Given the description of an element on the screen output the (x, y) to click on. 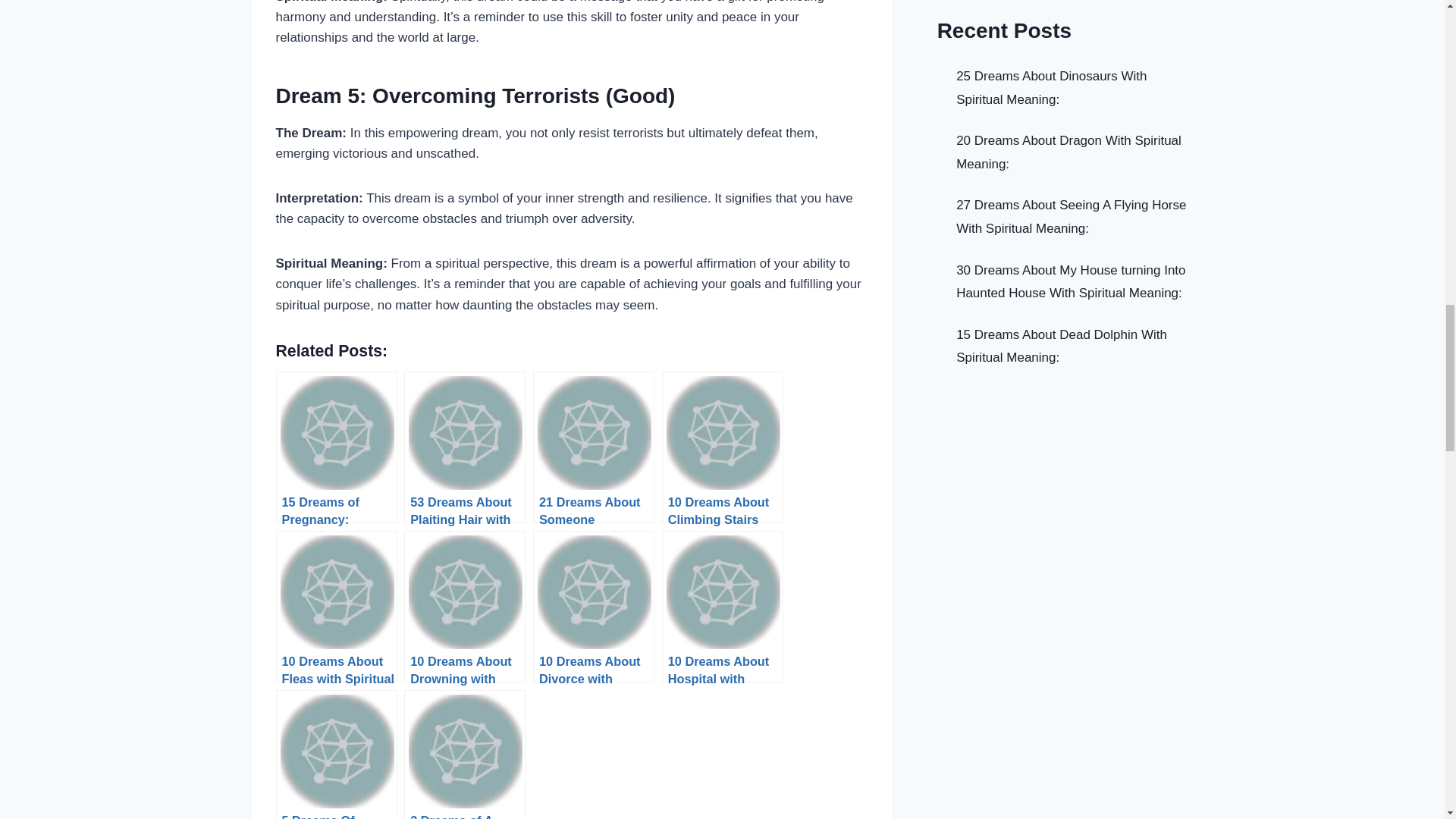
2 Dreams of A Horse Attacking You With Spiritual Meanings (464, 754)
2 Dreams of A Horse Attacking You With Spiritual Meanings (464, 754)
5 Dreams Of Beating a Black Dog with Spiritual Meanings (336, 754)
5 Dreams Of Beating a Black Dog with Spiritual Meanings (336, 754)
